Given the description of an element on the screen output the (x, y) to click on. 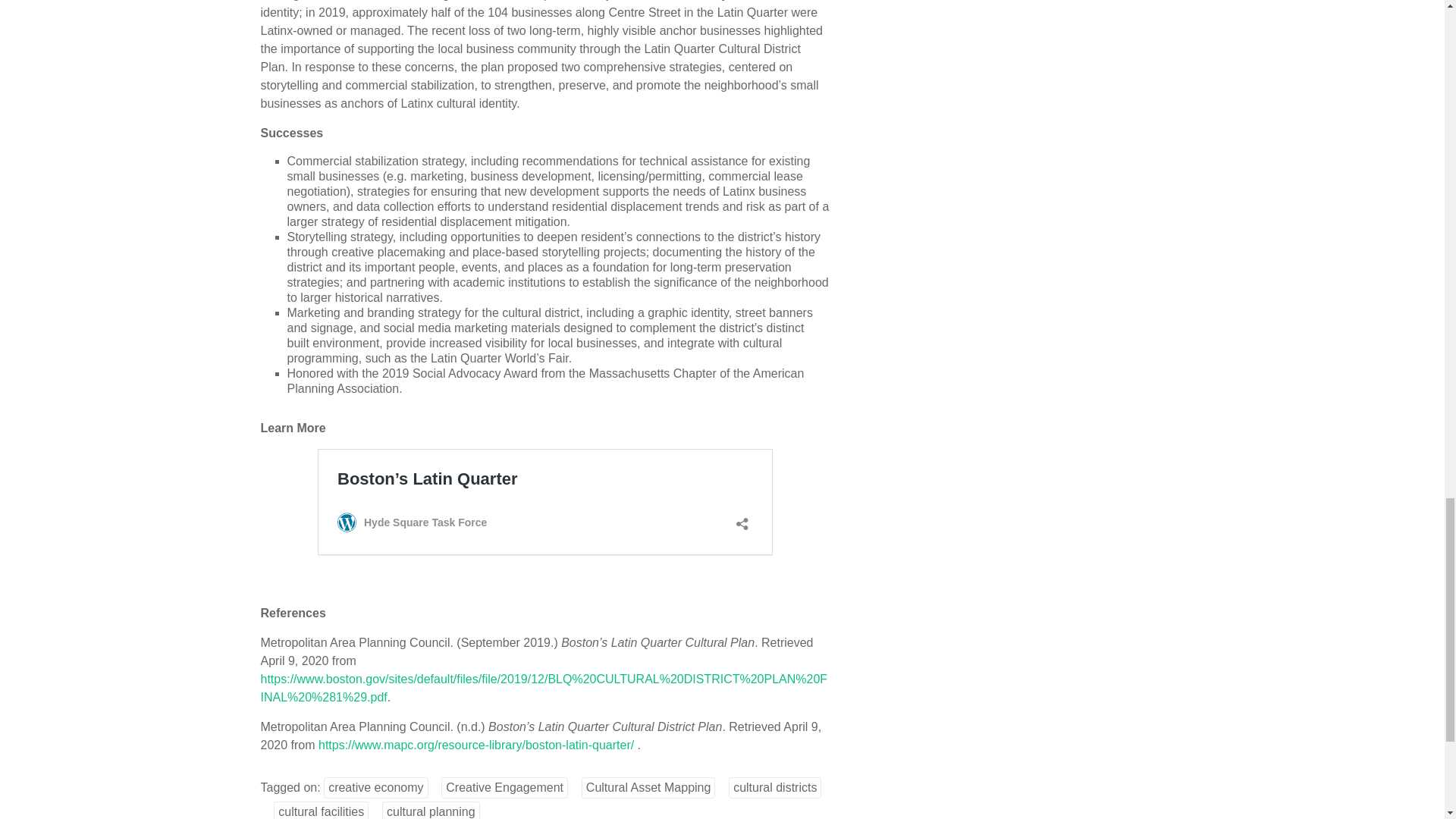
Creative Engagement (504, 787)
cultural planning (430, 810)
creative economy (375, 787)
cultural districts (775, 787)
Cultural Asset Mapping (648, 787)
cultural facilities (320, 810)
